Given the description of an element on the screen output the (x, y) to click on. 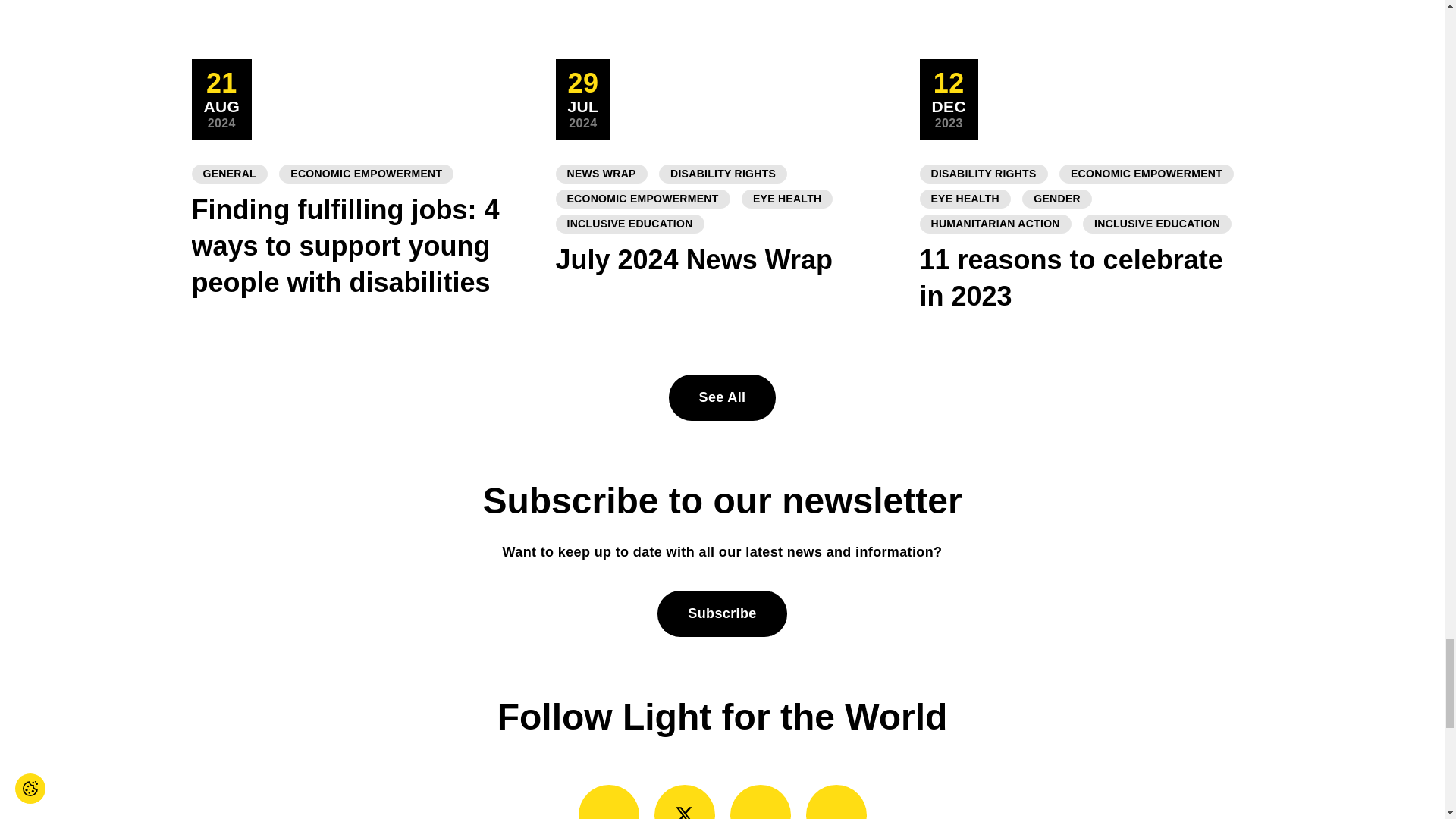
show facebook profile (608, 801)
show youtube profile (759, 801)
show twitter profile (683, 801)
show linkedin profile (835, 801)
